Given the description of an element on the screen output the (x, y) to click on. 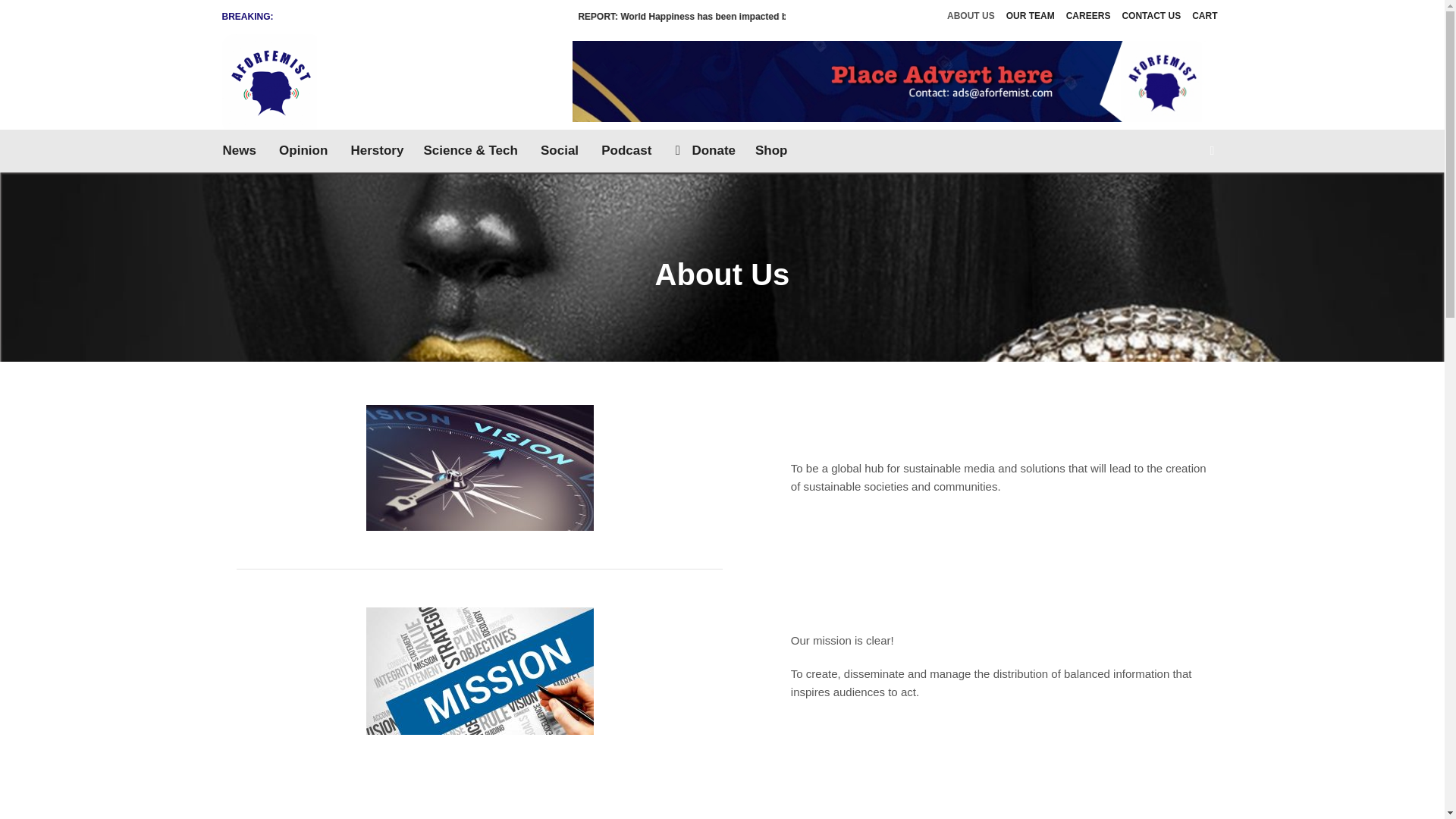
CART (1204, 16)
CONTACT US (1151, 16)
OUR TEAM (1030, 16)
News (242, 150)
CAREERS (1088, 16)
ABOUT US (971, 16)
